Given the description of an element on the screen output the (x, y) to click on. 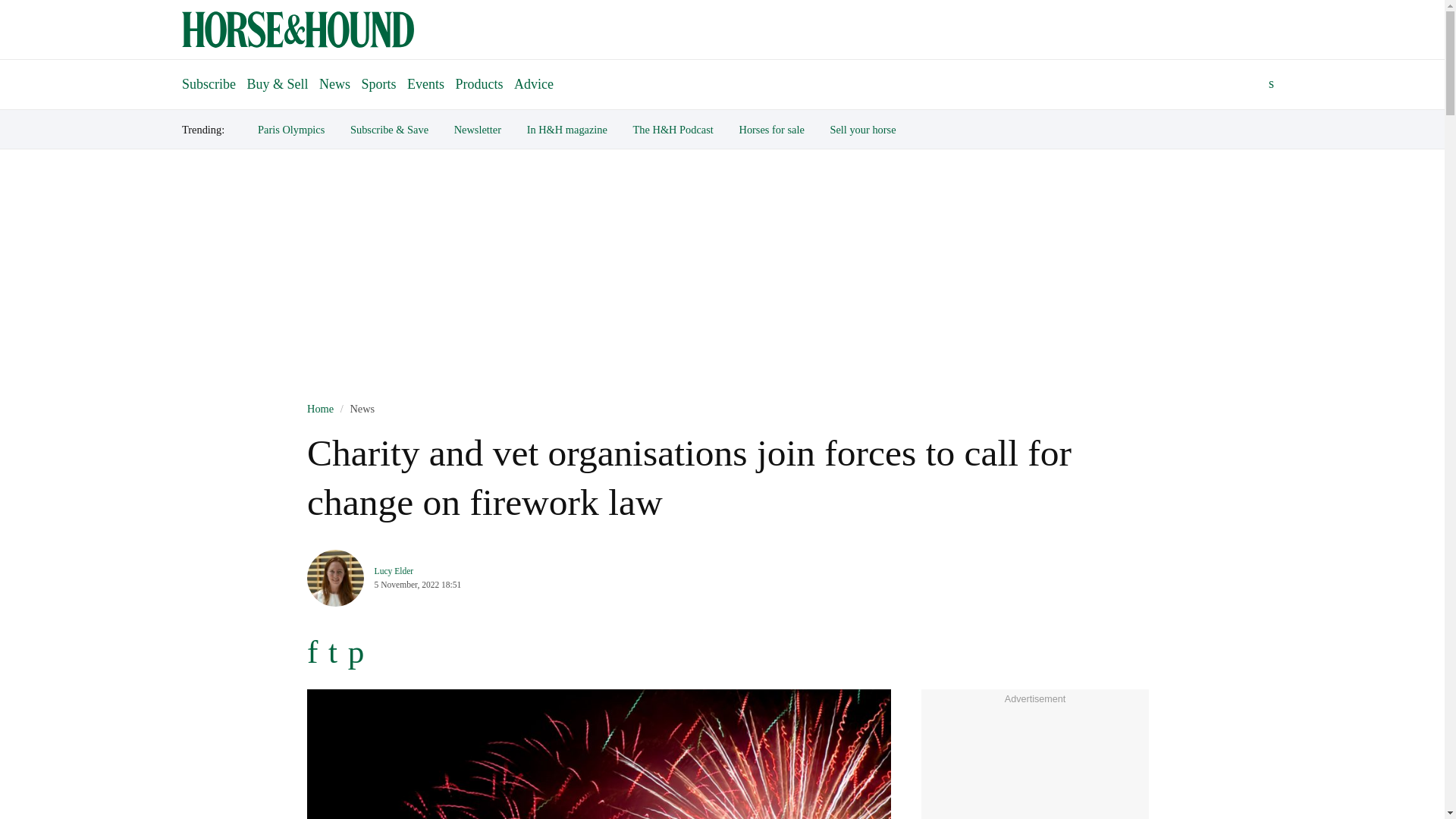
Advice (534, 83)
Products (478, 83)
Subscribe (208, 77)
Events (425, 83)
